Given the description of an element on the screen output the (x, y) to click on. 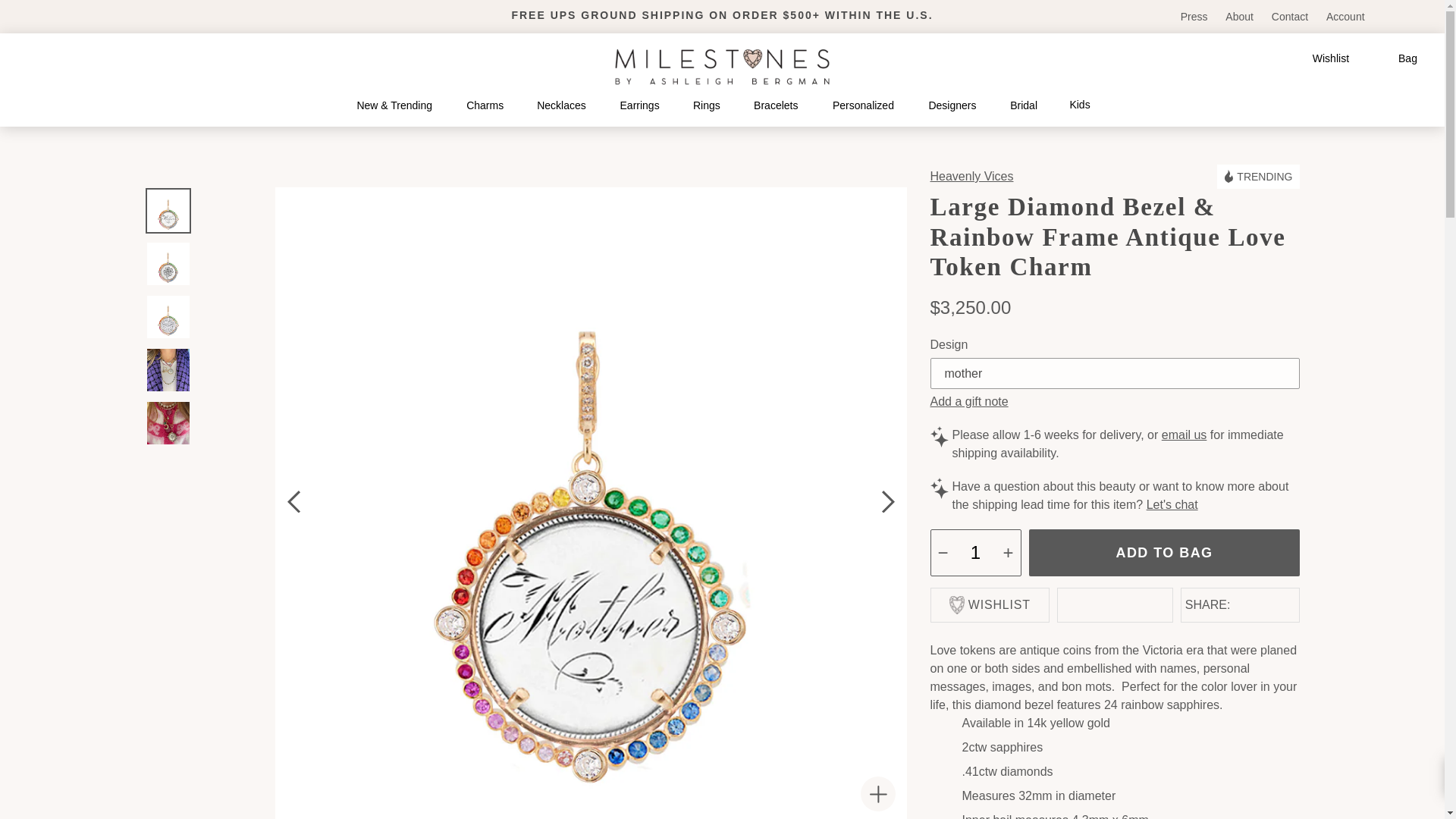
1 (975, 552)
About (1240, 16)
Bag (1393, 59)
Press (1195, 16)
Account (1345, 16)
Contact (1291, 16)
Wishlist (1318, 58)
